Given the description of an element on the screen output the (x, y) to click on. 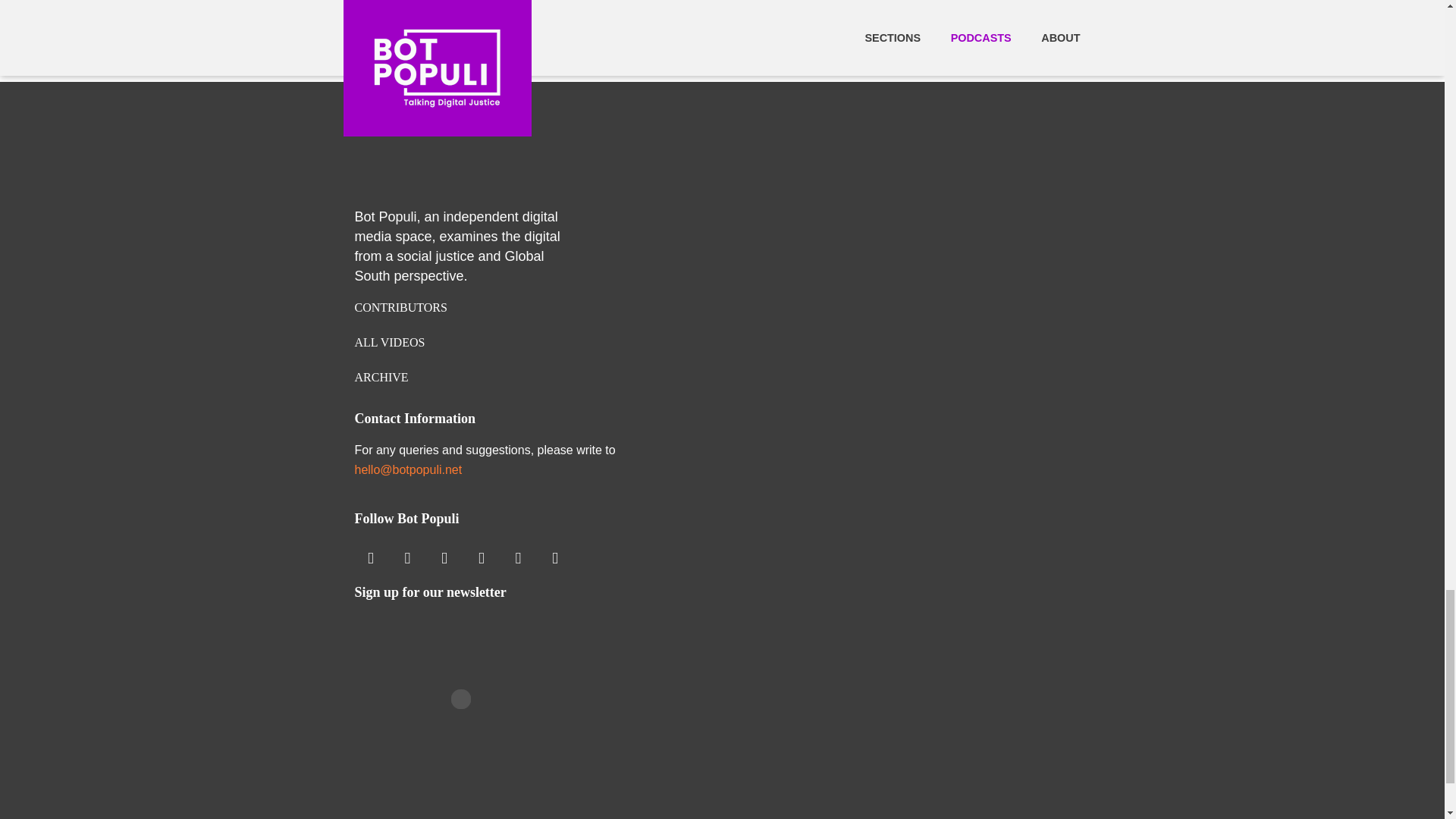
Bot Populi on Instagram (371, 558)
